Given the description of an element on the screen output the (x, y) to click on. 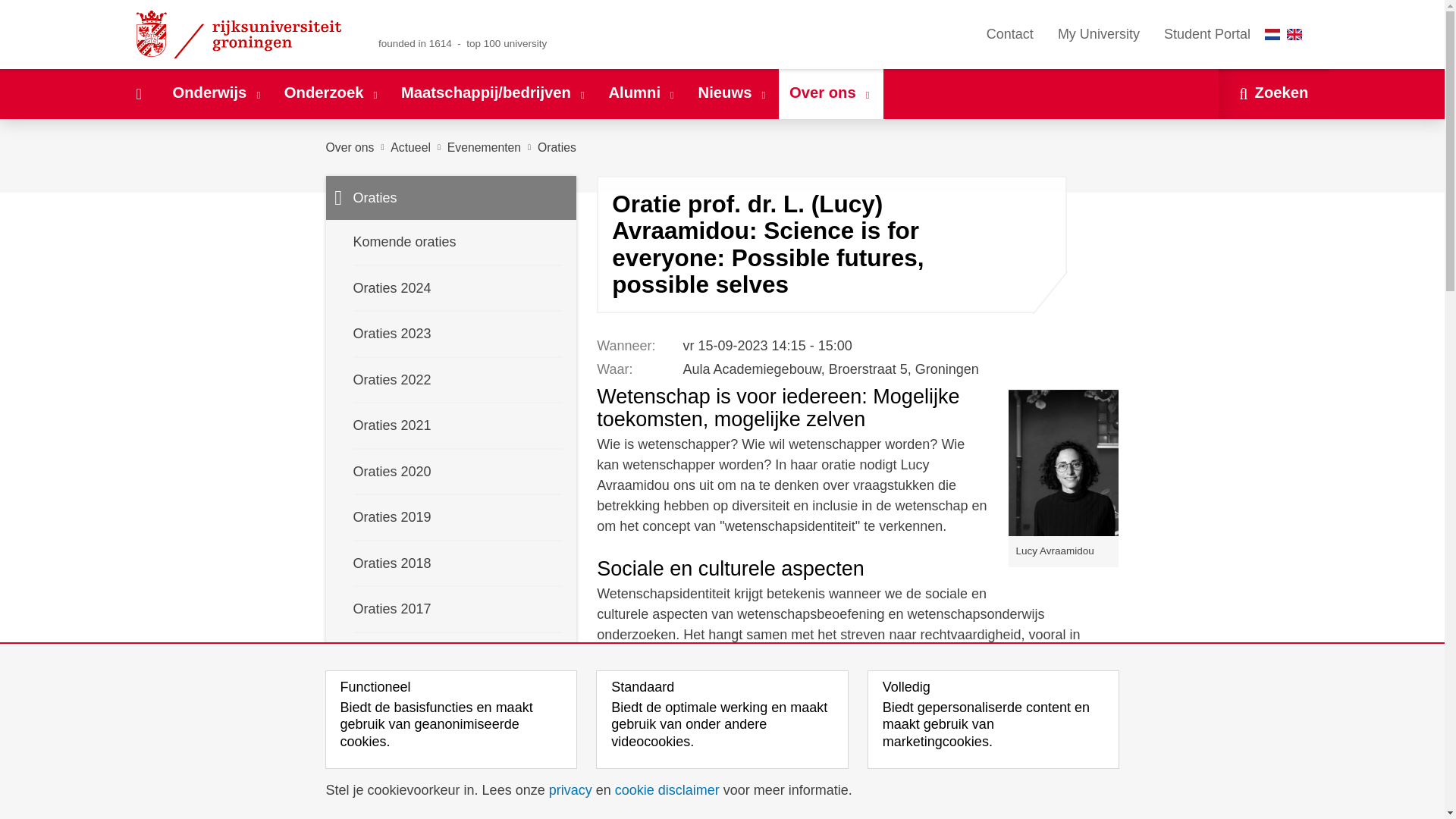
Taal selectie (1286, 34)
Rijksuniversiteit Groningen (241, 34)
Student Portal (1206, 34)
Home (138, 93)
Contact (1009, 34)
Nederlands (1272, 33)
My University (1098, 34)
Onderwijs (217, 93)
Onderzoek (331, 93)
English (1293, 33)
